Given the description of an element on the screen output the (x, y) to click on. 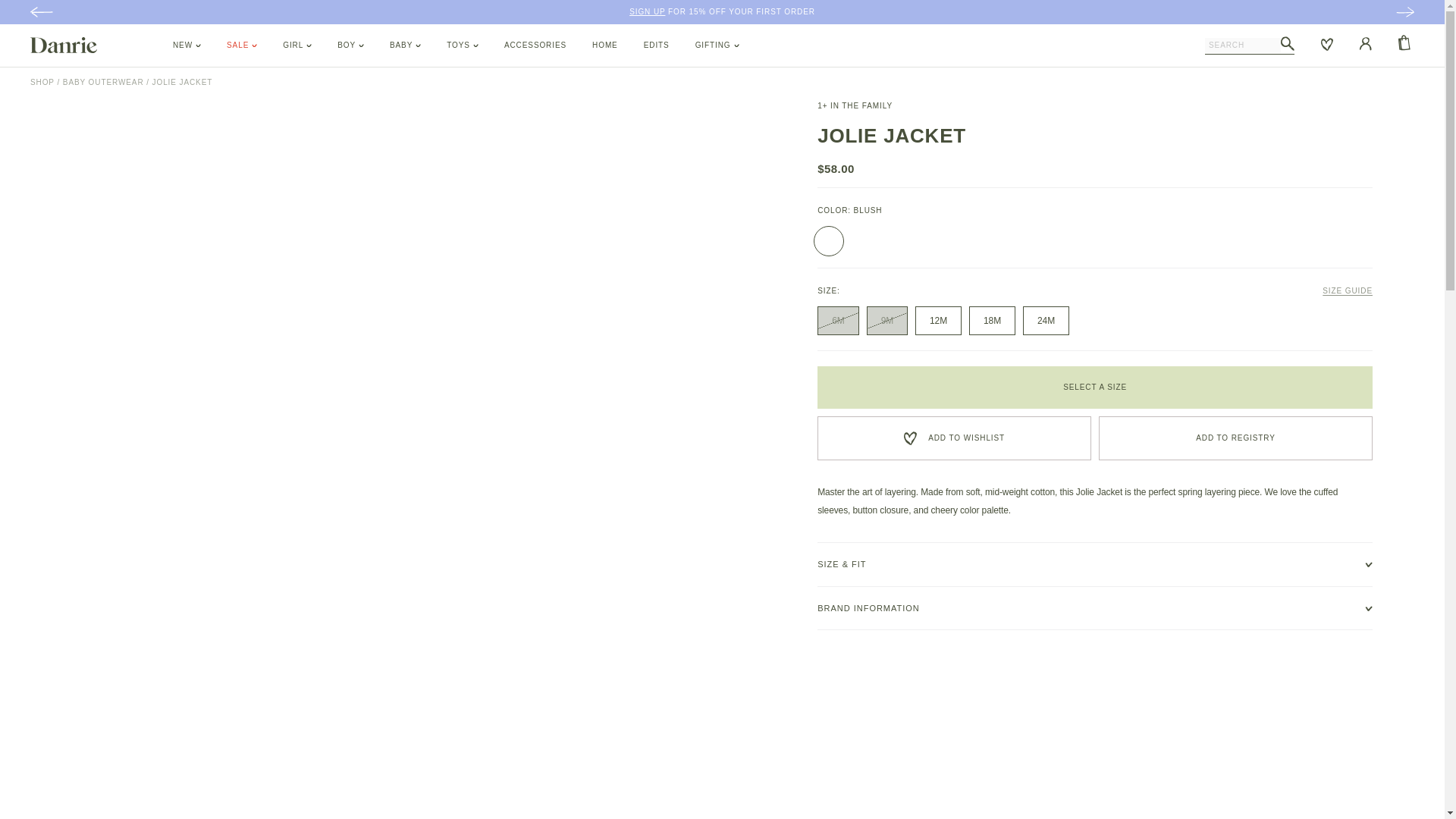
SKIP TO CONTENT (45, 13)
SIGN UP (646, 11)
